Given the description of an element on the screen output the (x, y) to click on. 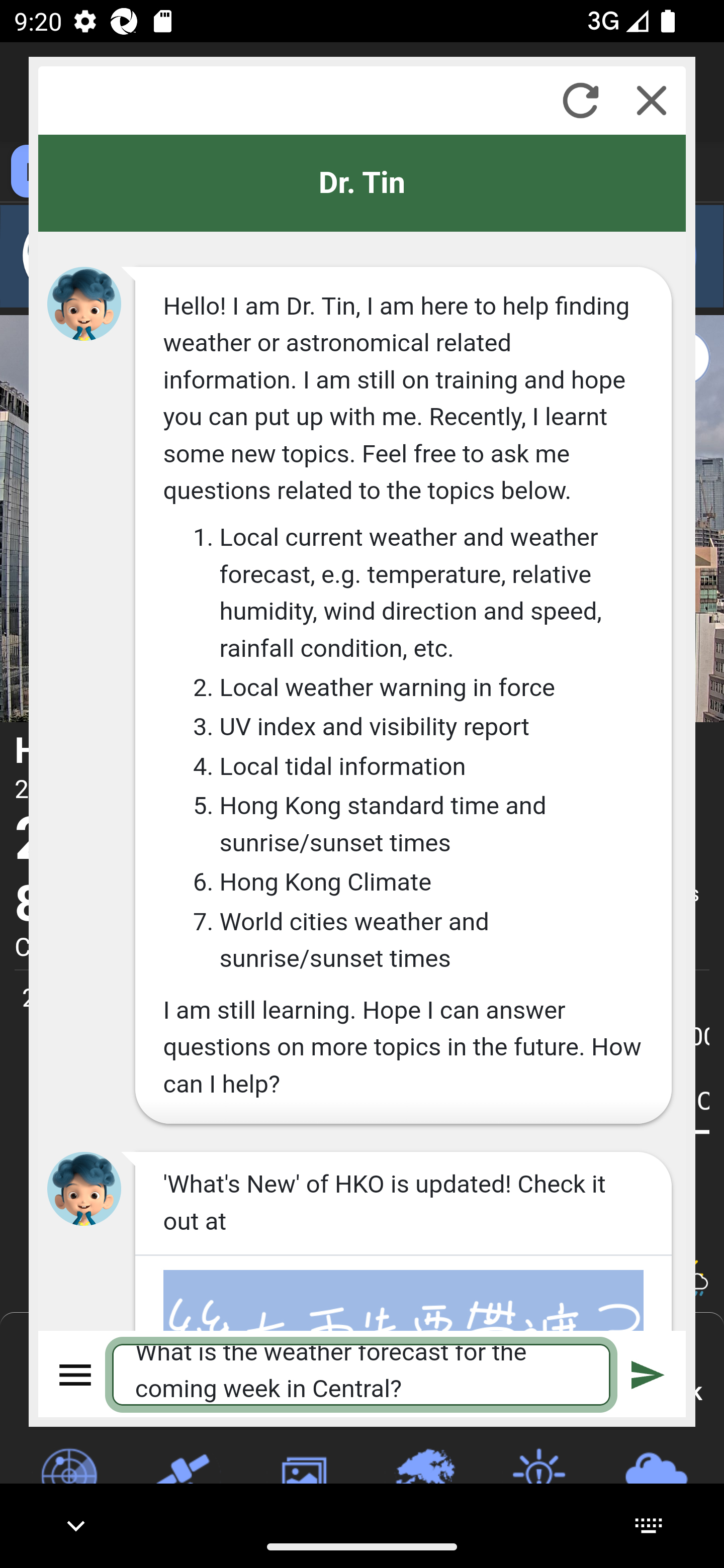
Refresh (580, 100)
Close (651, 100)
Menu (75, 1374)
Submit (648, 1374)
